Given the description of an element on the screen output the (x, y) to click on. 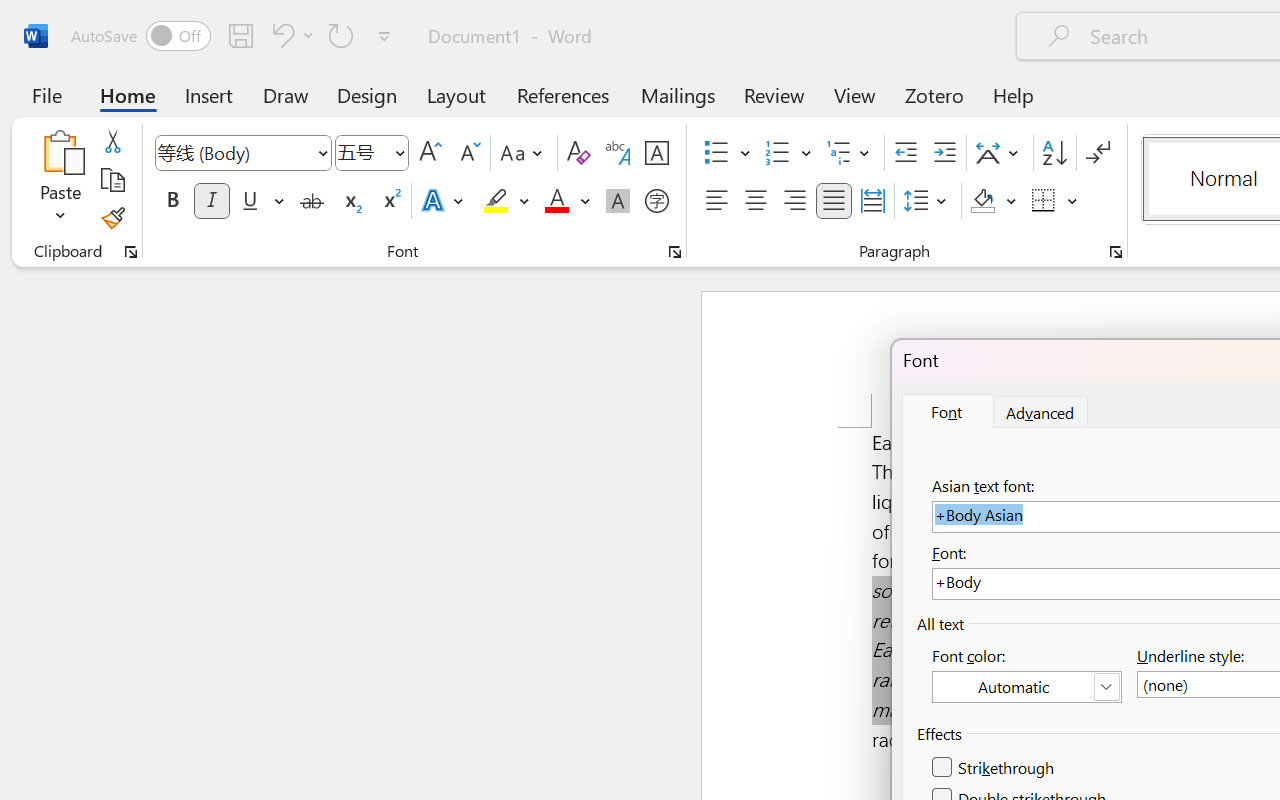
Character Shading (618, 201)
Distributed (872, 201)
Subscript (350, 201)
Text Highlight Color (506, 201)
